Given the description of an element on the screen output the (x, y) to click on. 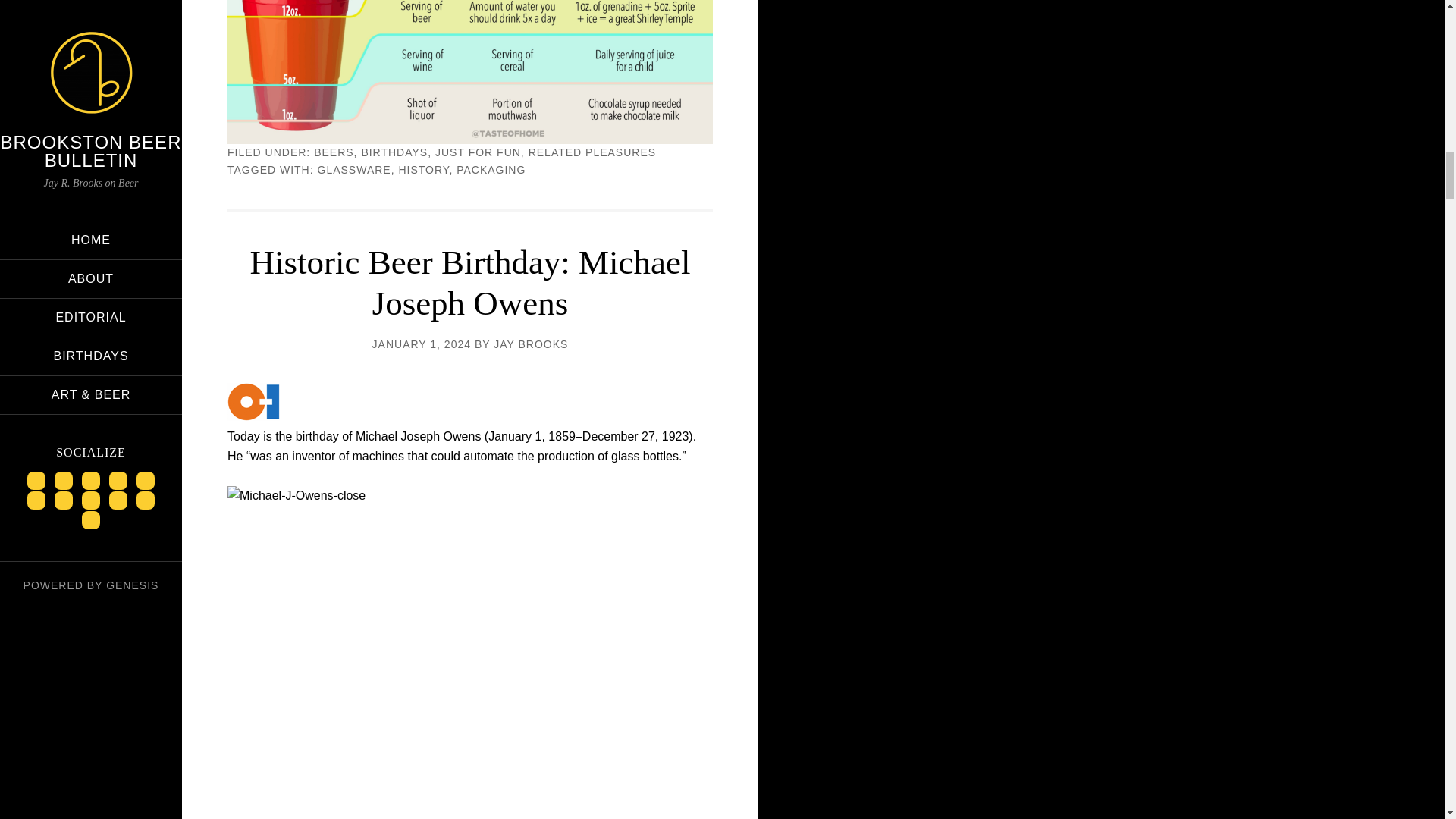
RELATED PLEASURES (592, 152)
JUST FOR FUN (478, 152)
Historic Beer Birthday: Michael Joseph Owens (469, 282)
PACKAGING (491, 169)
HISTORY (422, 169)
GLASSWARE (354, 169)
JAY BROOKS (530, 344)
BIRTHDAYS (394, 152)
BEERS (333, 152)
